Given the description of an element on the screen output the (x, y) to click on. 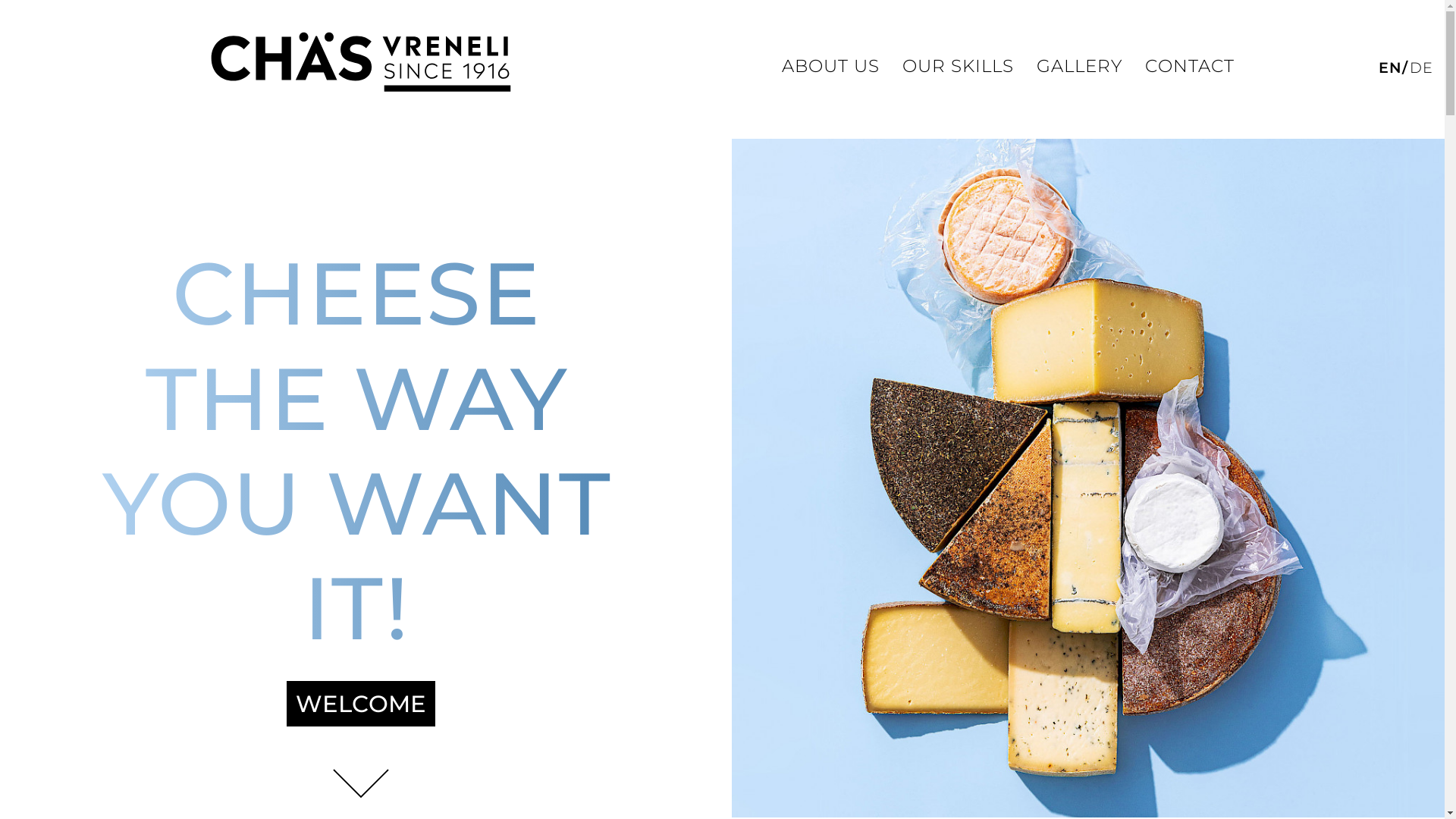
DE Element type: text (1421, 67)
WELCOME Element type: text (360, 703)
GALLERY Element type: text (1079, 65)
ABOUT US Element type: text (830, 65)
CONTACT Element type: text (1189, 65)
OUR SKILLS Element type: text (957, 65)
